Given the description of an element on the screen output the (x, y) to click on. 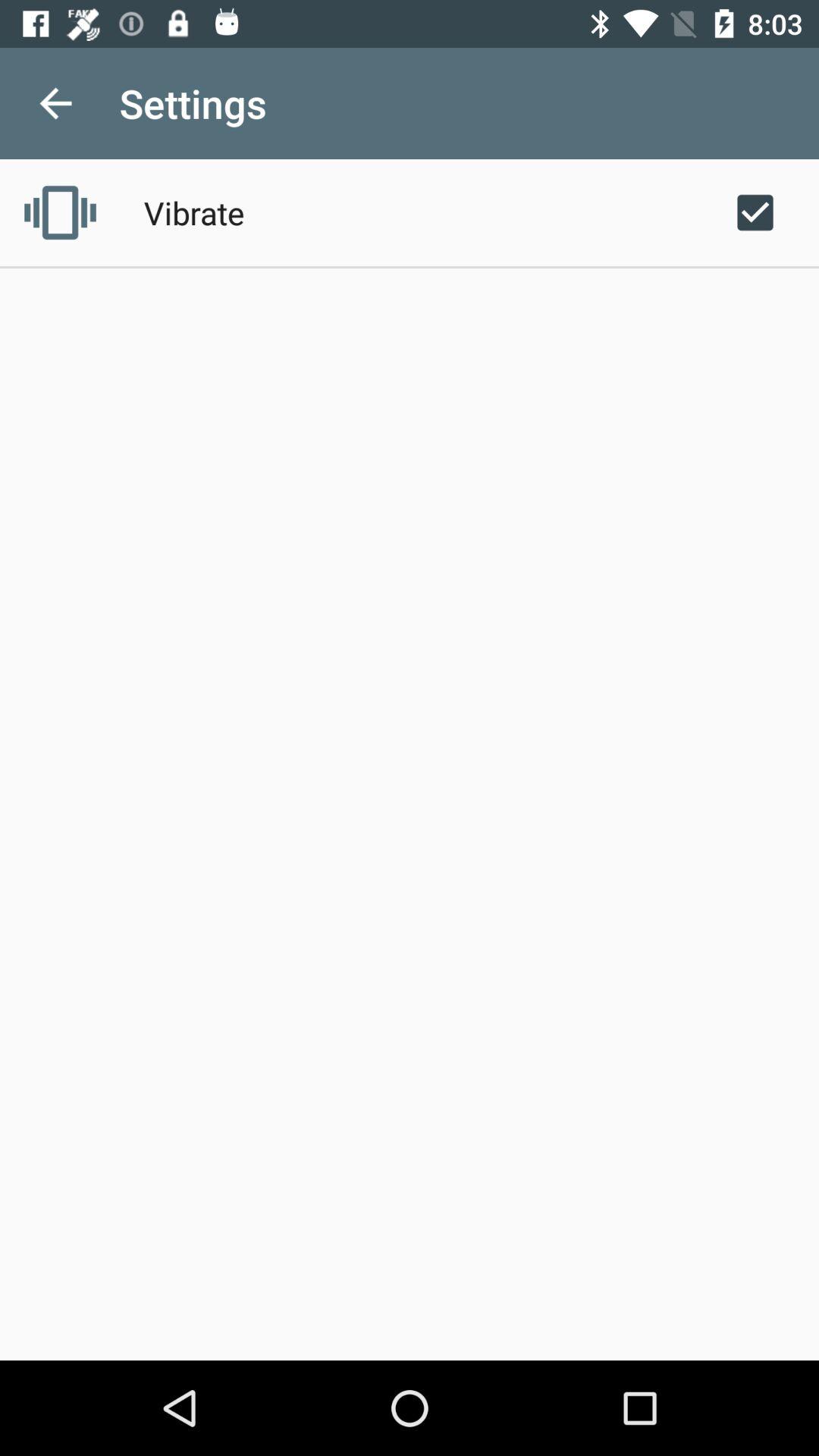
go to previous (55, 103)
